Given the description of an element on the screen output the (x, y) to click on. 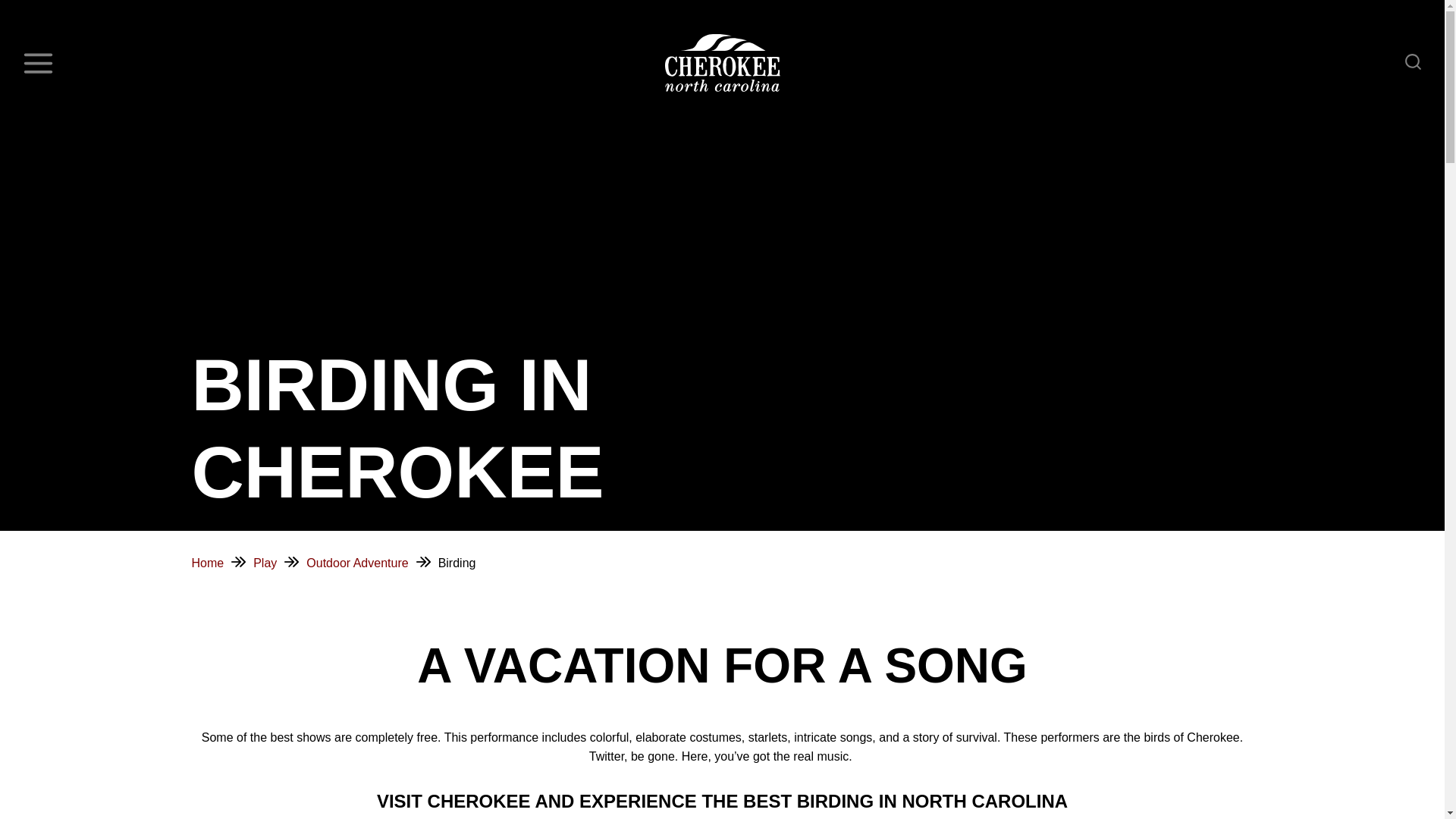
Play (264, 562)
Home (207, 562)
Main Menu (38, 62)
Outdoor Adventure (356, 562)
